Given the description of an element on the screen output the (x, y) to click on. 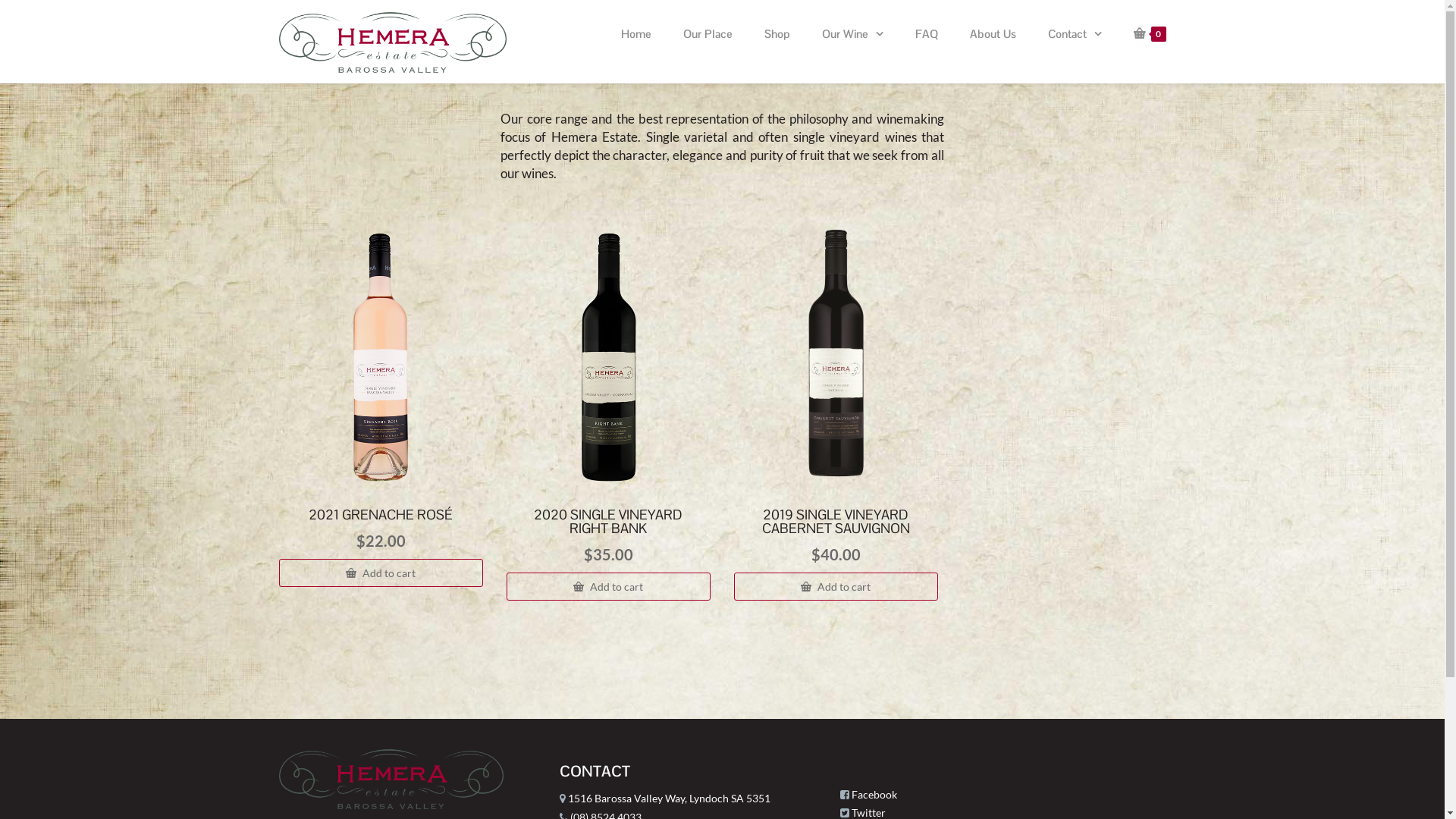
Facebook Element type: text (873, 793)
Add to cart Element type: text (381, 572)
Our Place Element type: text (707, 41)
Home Element type: text (636, 41)
About Us Element type: text (992, 41)
2020 SINGLE VINEYARD RIGHT BANK
$35.00 Element type: text (608, 396)
Add to cart Element type: text (836, 586)
FAQ Element type: text (926, 41)
Hemera Estate Element type: hover (392, 42)
Our Wine Element type: text (851, 41)
Add to cart Element type: text (608, 586)
2019 SINGLE VINEYARD CABERNET SAUVIGNON
$40.00 Element type: text (836, 396)
Contact Element type: text (1074, 41)
Shop Element type: text (776, 41)
